Given the description of an element on the screen output the (x, y) to click on. 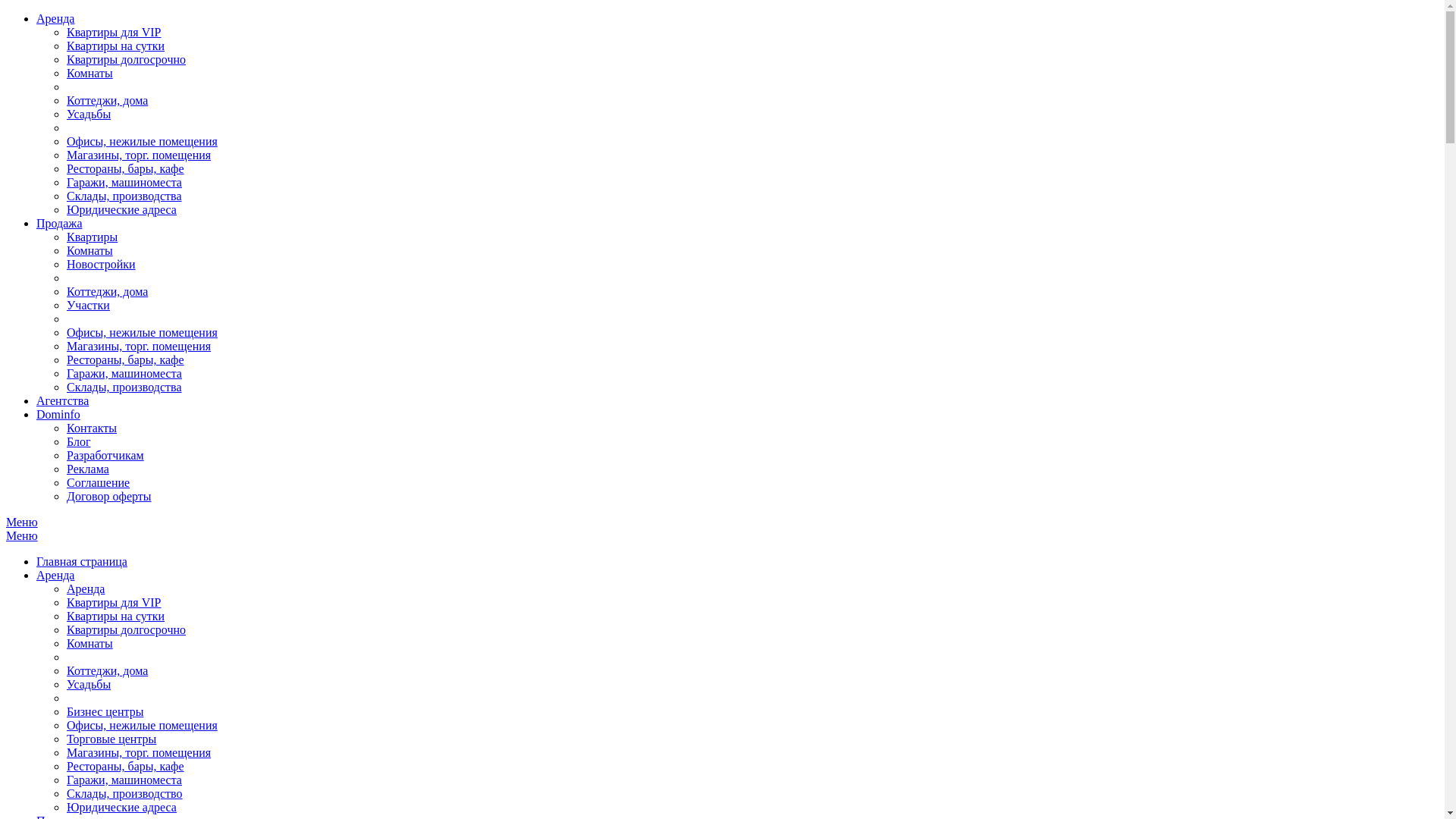
Dominfo Element type: text (58, 413)
